Given the description of an element on the screen output the (x, y) to click on. 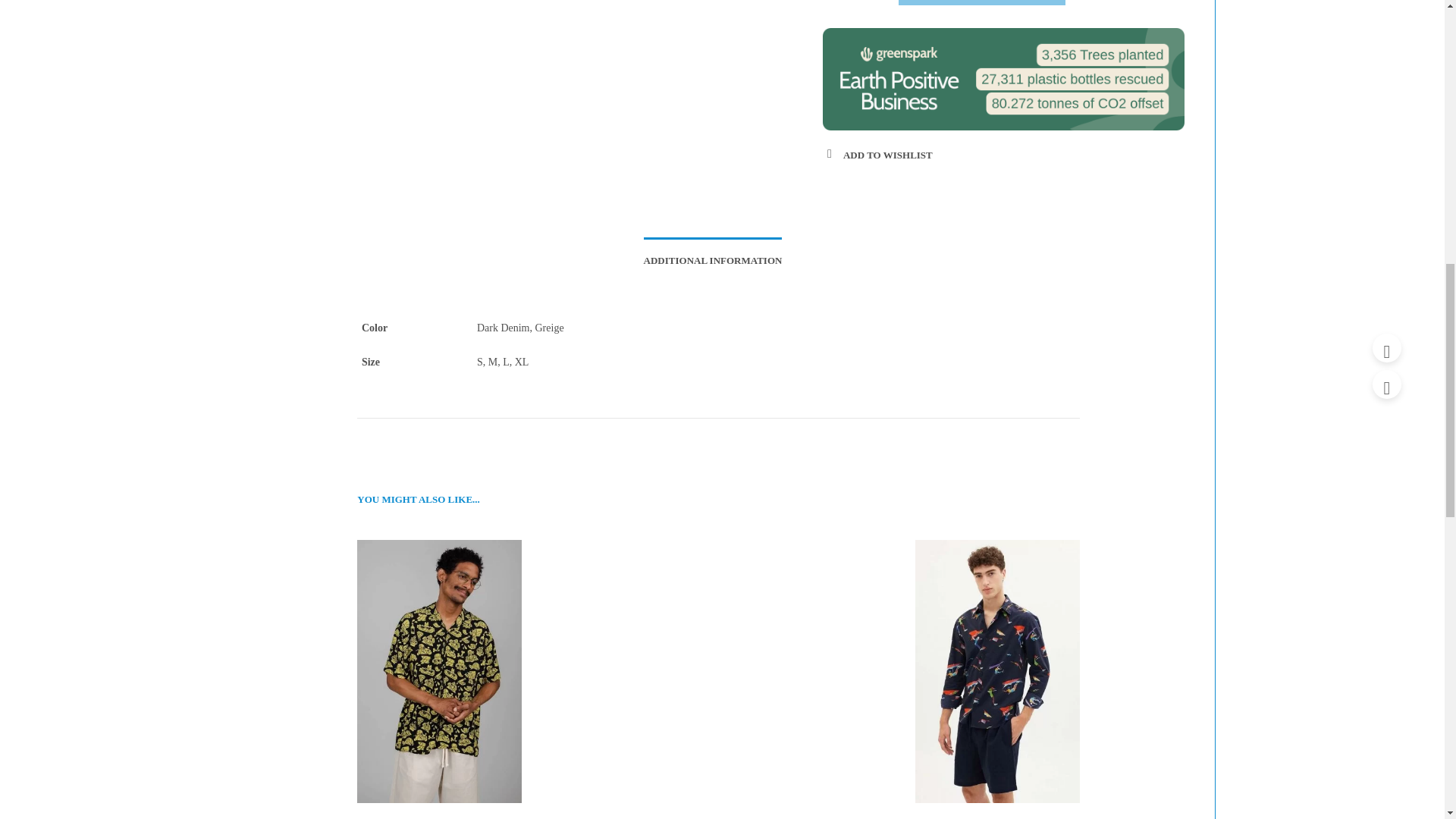
1 (851, 2)
